Given the description of an element on the screen output the (x, y) to click on. 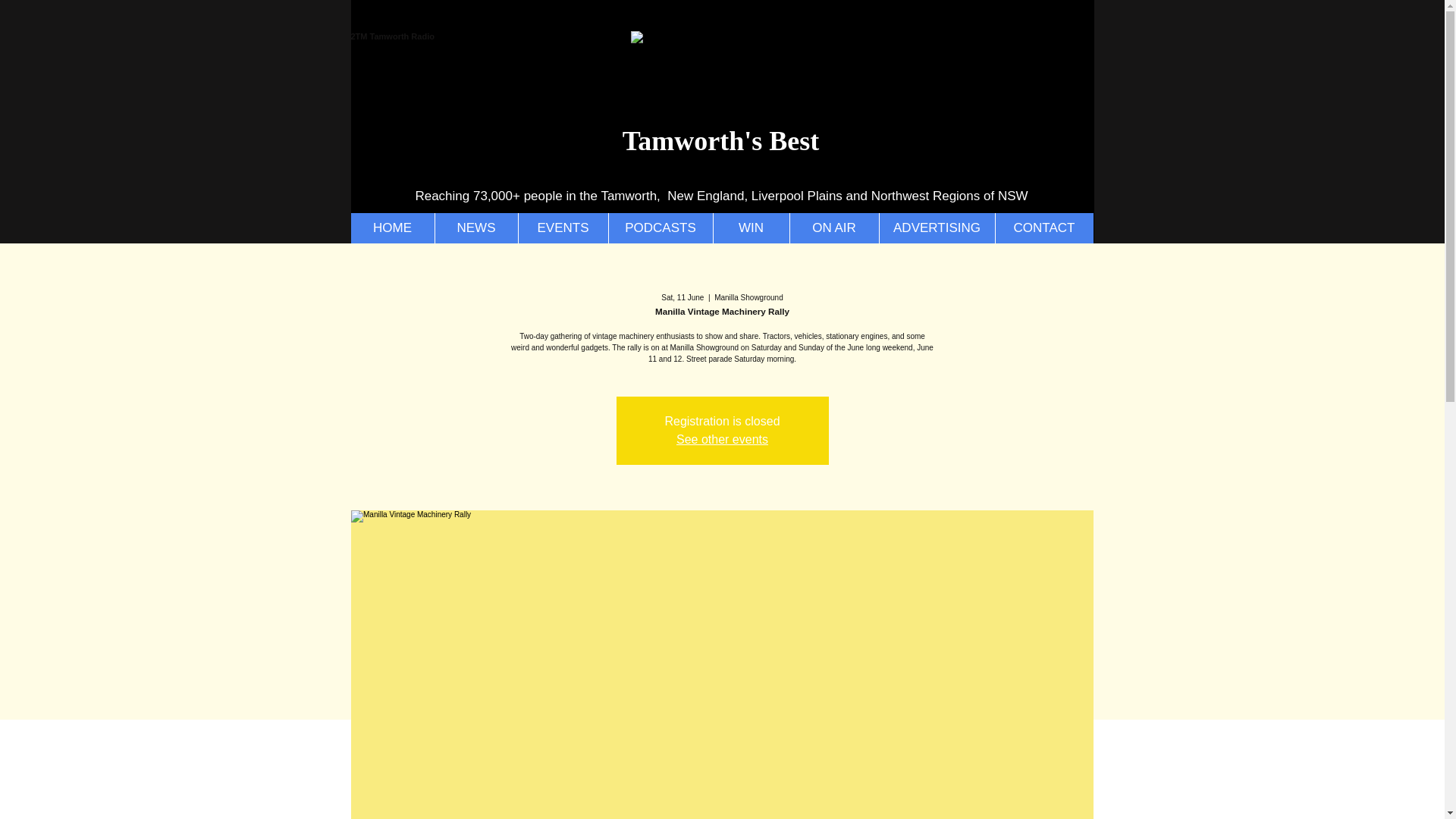
HOME (391, 227)
See other events (722, 439)
